Given the description of an element on the screen output the (x, y) to click on. 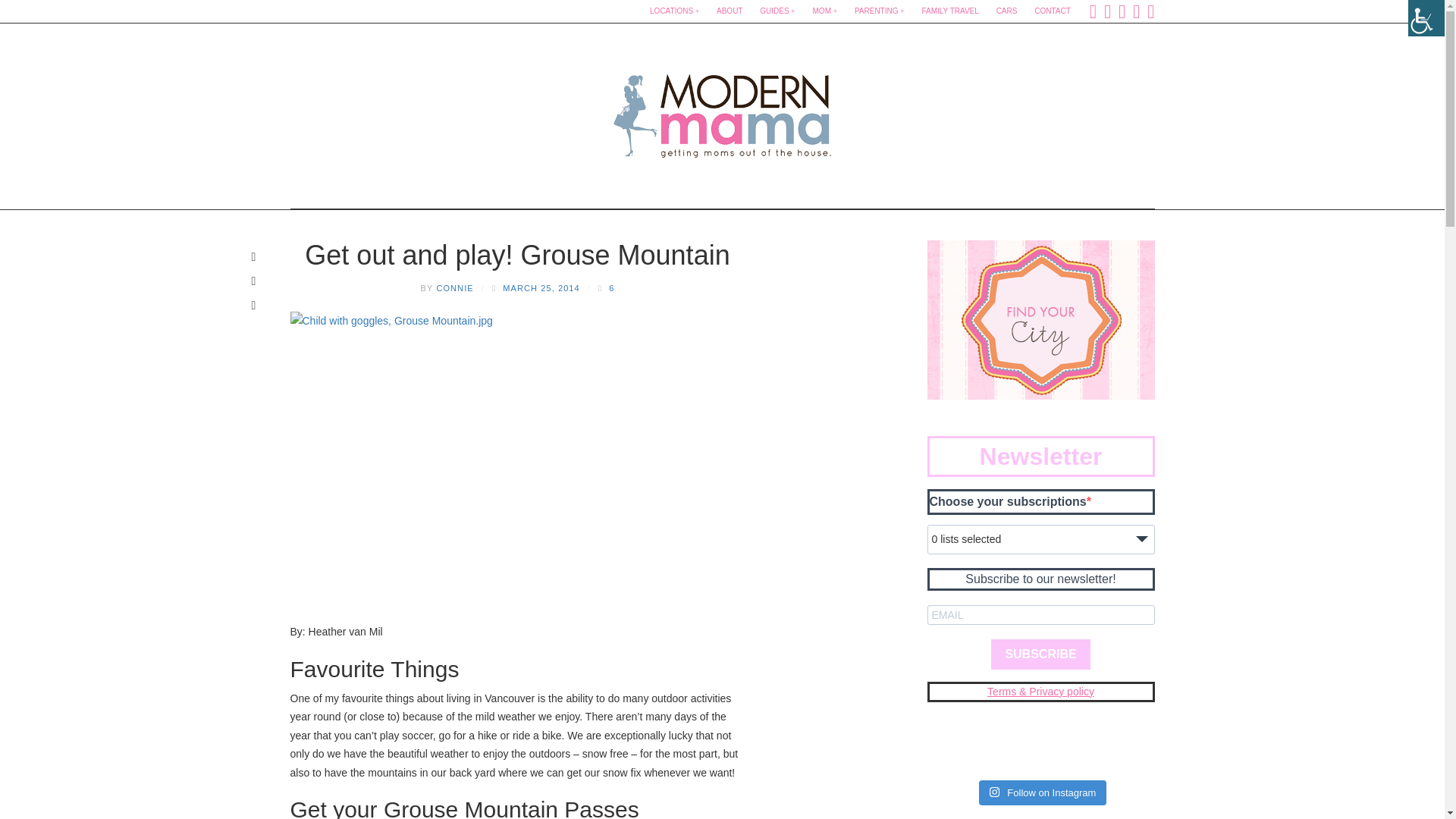
GUIDES (777, 11)
View all posts by connie (454, 287)
FAMILY TRAVEL (949, 11)
MARCH 25, 2014 (540, 287)
CONNIE (454, 287)
CONTACT (1052, 11)
Modern Mama (722, 111)
PARENTING (879, 11)
LOCATIONS (674, 11)
CARS (1006, 11)
